Given the description of an element on the screen output the (x, y) to click on. 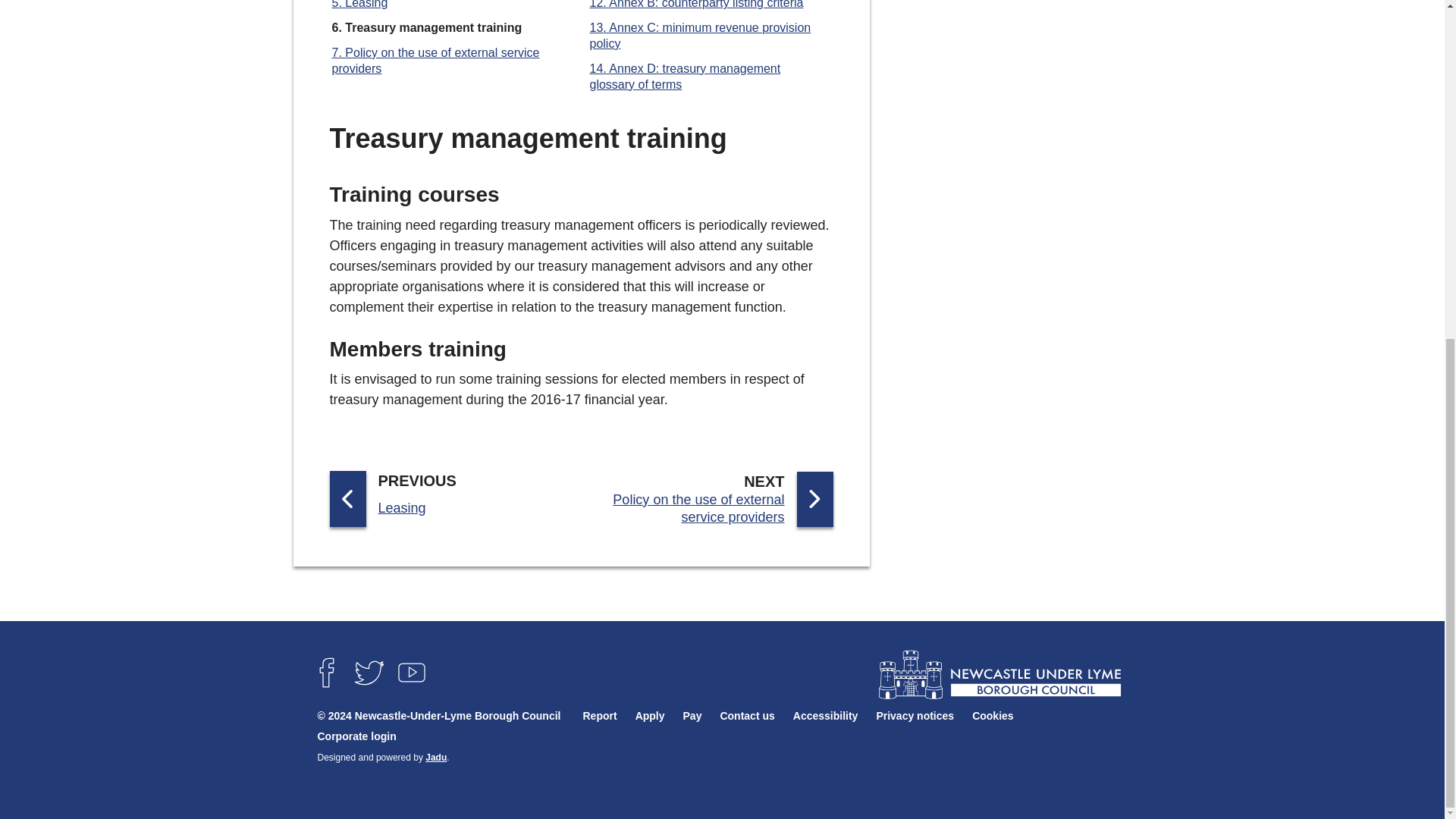
Twitter (368, 672)
YouTube (411, 672)
Newcastle-under-Lyme Borough Council Home Page (997, 675)
Leasing (359, 4)
Facebook (325, 672)
Policy on the use of external service providers (435, 60)
Visit the Jadu website (435, 757)
